Given the description of an element on the screen output the (x, y) to click on. 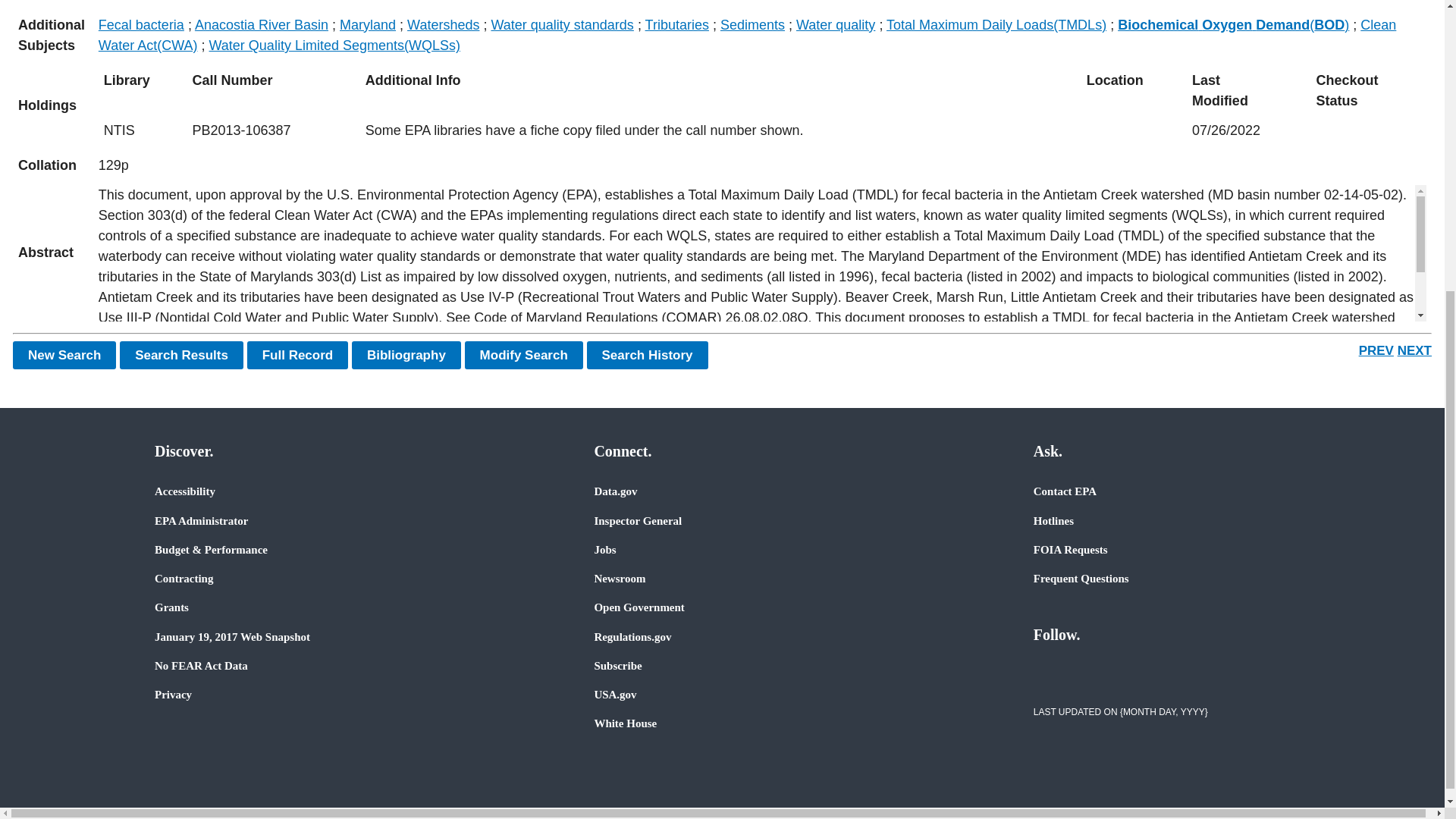
Create a New Search (64, 355)
Show results in standard format (181, 355)
Maryland (367, 24)
Modify Search (523, 355)
New Search (64, 355)
Anacostia River Basin (262, 24)
Water quality standards (561, 24)
Contracting (183, 578)
Water quality (835, 24)
Inspector General (637, 520)
